Given the description of an element on the screen output the (x, y) to click on. 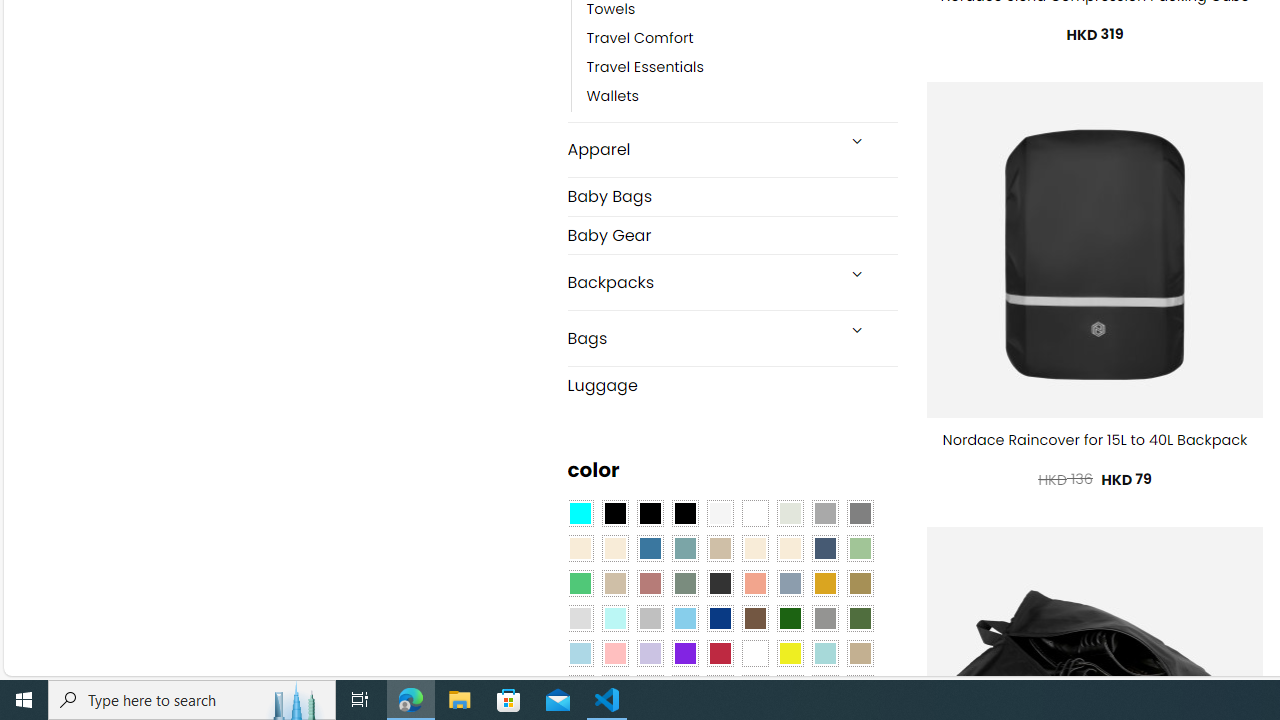
Hale Navy (824, 548)
Light Blue (579, 653)
Travel Essentials (742, 67)
Dark Gray (824, 514)
Black-Brown (684, 514)
Cream (789, 548)
